Given the description of an element on the screen output the (x, y) to click on. 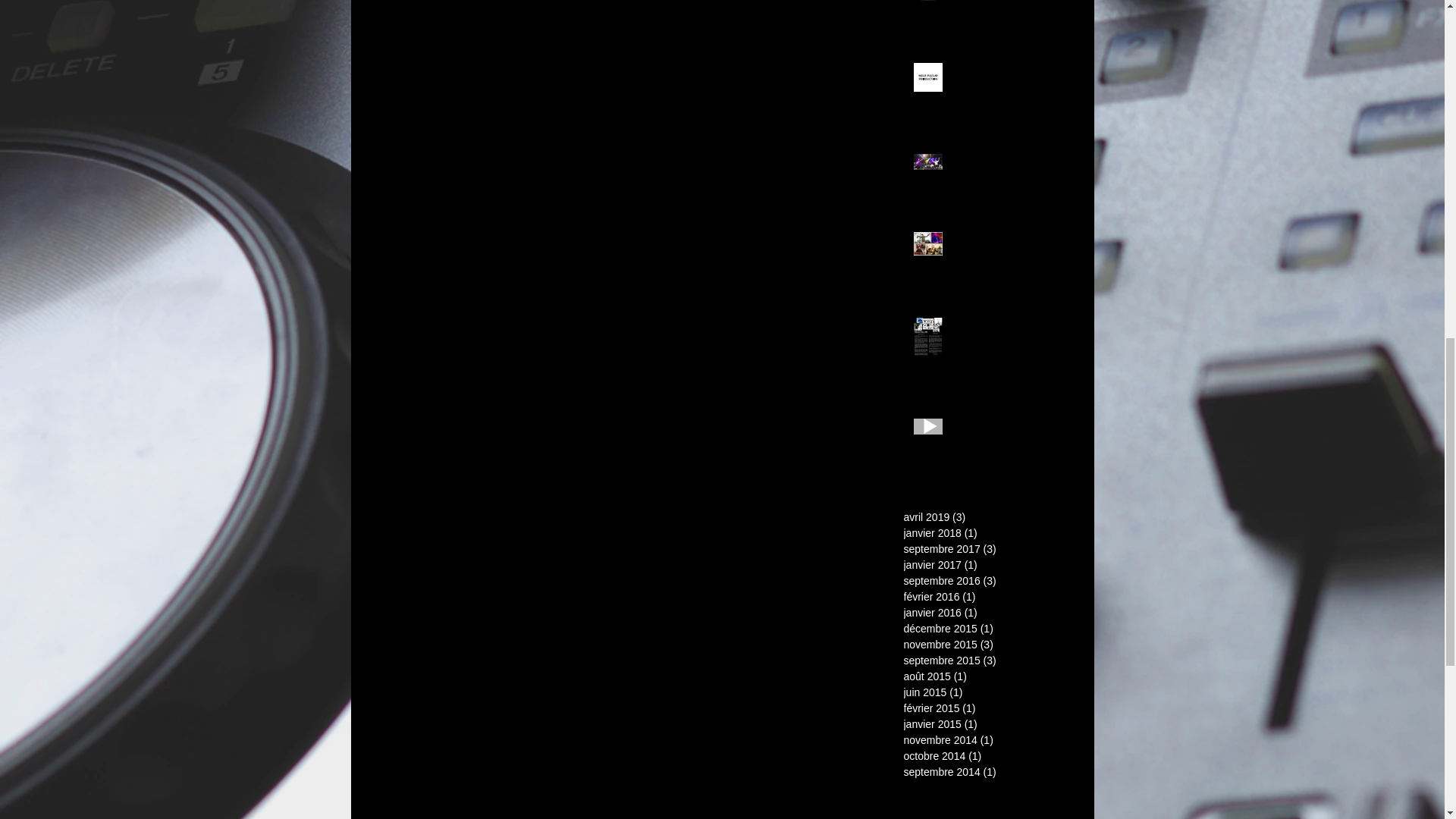
"Rapture" Official Video !!!!! (1006, 435)
Helix Pulsar Production (1006, 79)
2017 commence tambours battant pour Helix Pulsar ! (1006, 255)
